Given the description of an element on the screen output the (x, y) to click on. 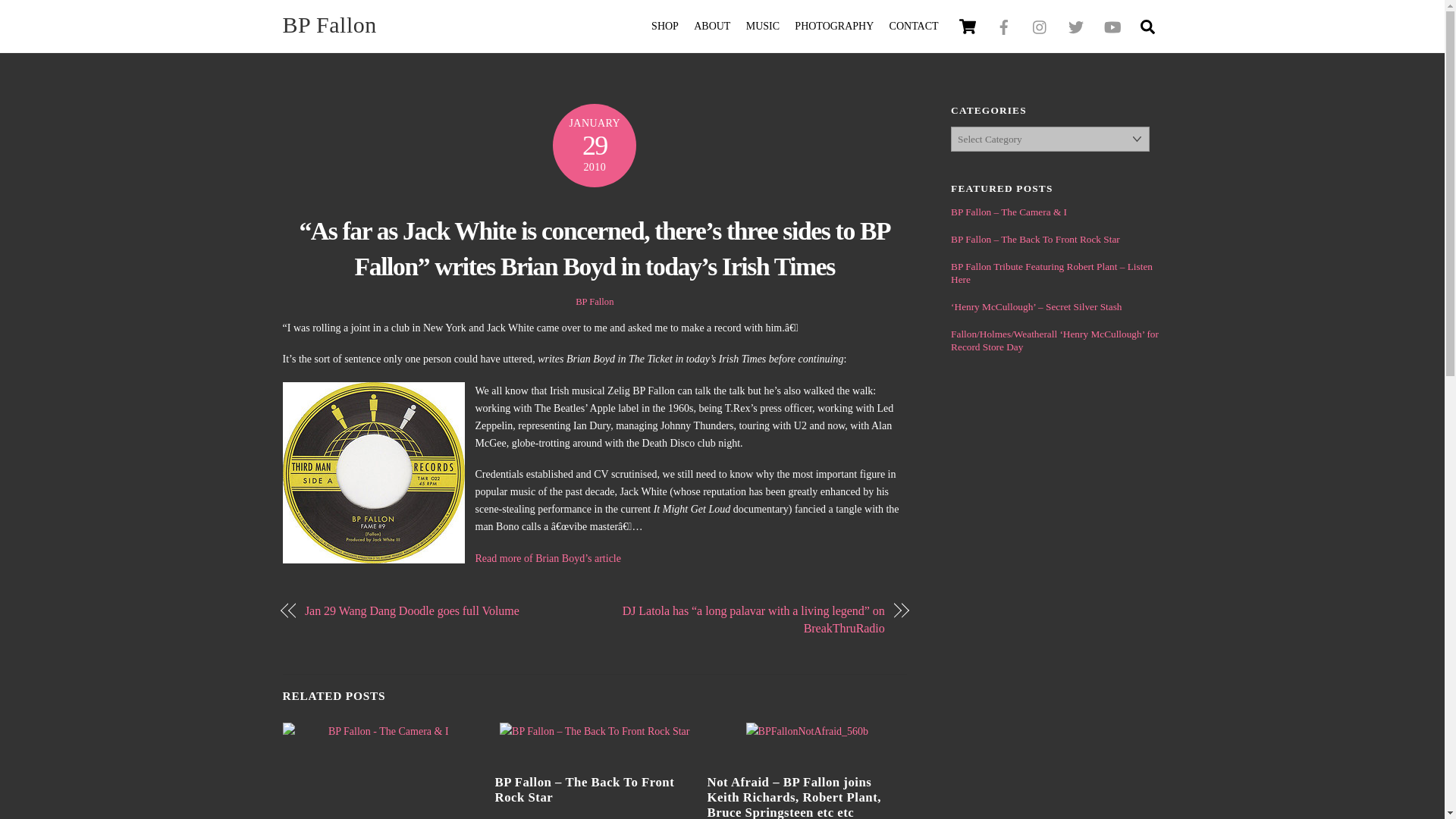
ABOUT (721, 25)
Jan 29 Wang Dang Doodle goes full Volume (711, 26)
Cart (440, 610)
BP Fallon (967, 26)
PHOTOGRAPHY (328, 24)
SHOP (834, 26)
CONTACT (665, 26)
BP Fallon (913, 26)
Search (328, 24)
MUSIC (1146, 25)
BP Fallon (762, 26)
